Given the description of an element on the screen output the (x, y) to click on. 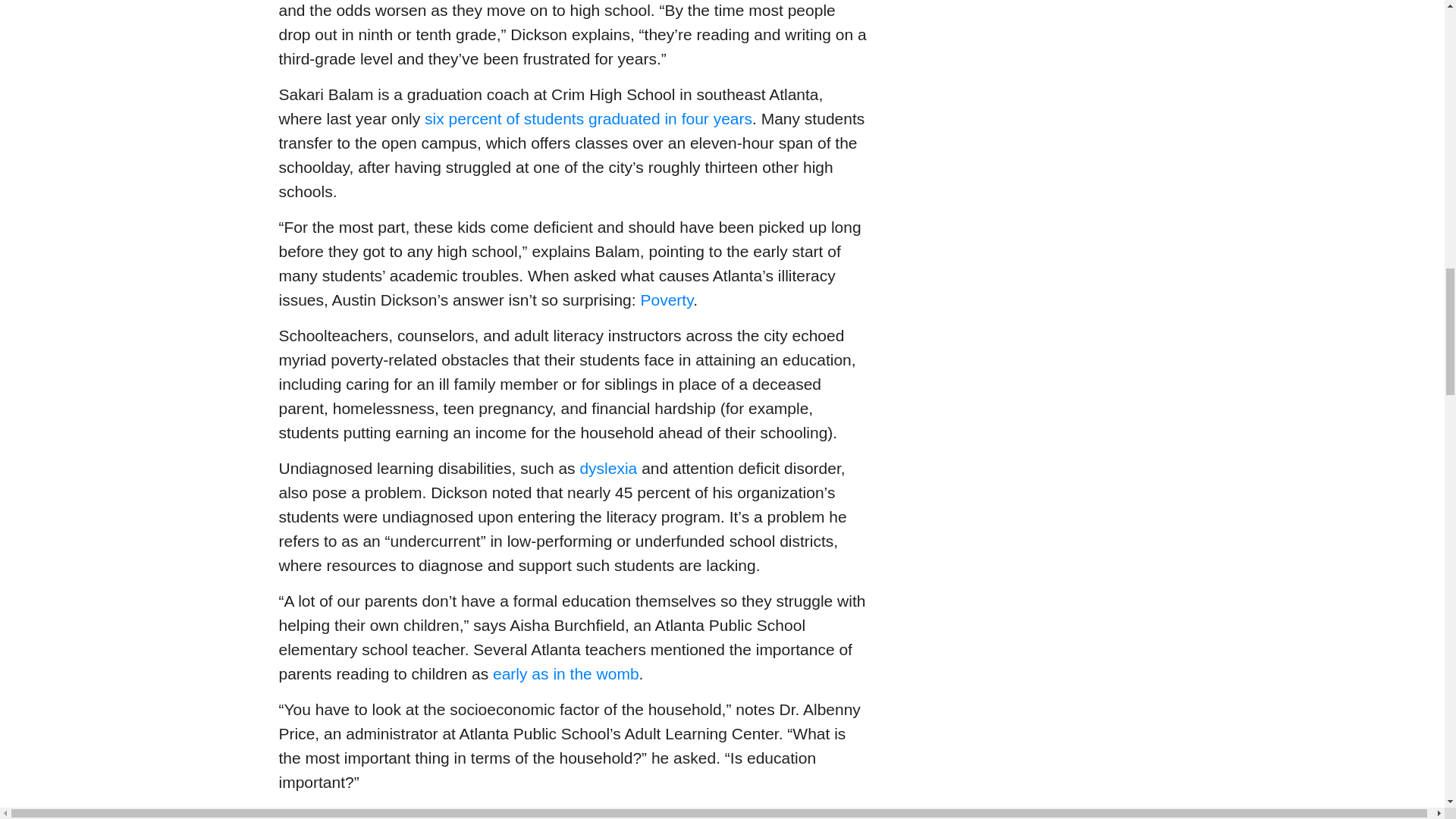
six percent of students graduated in four years (588, 118)
dyslexia (608, 467)
early as in the womb (566, 673)
Poverty (666, 299)
